Given the description of an element on the screen output the (x, y) to click on. 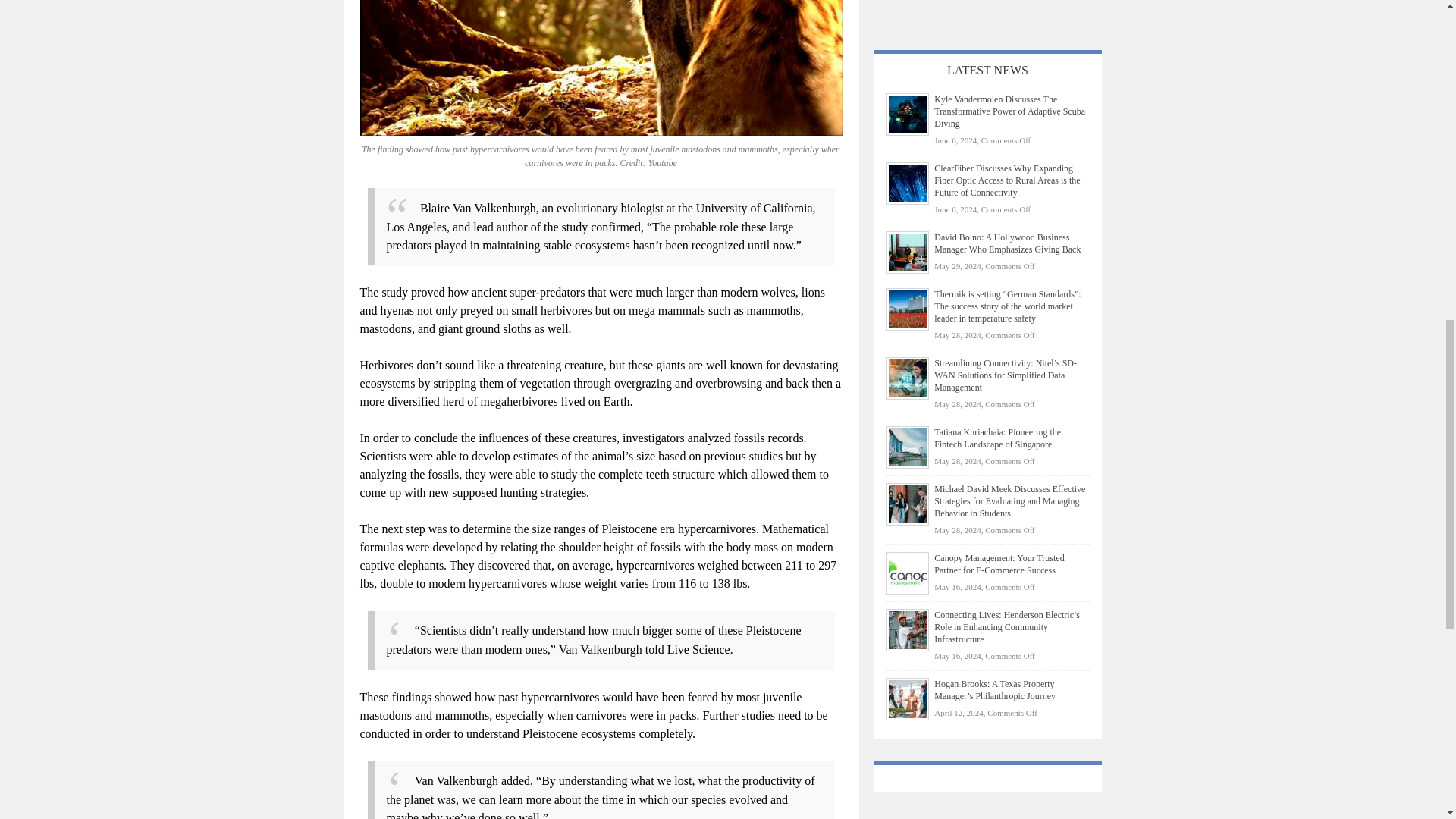
Advertisement (986, 11)
